Given the description of an element on the screen output the (x, y) to click on. 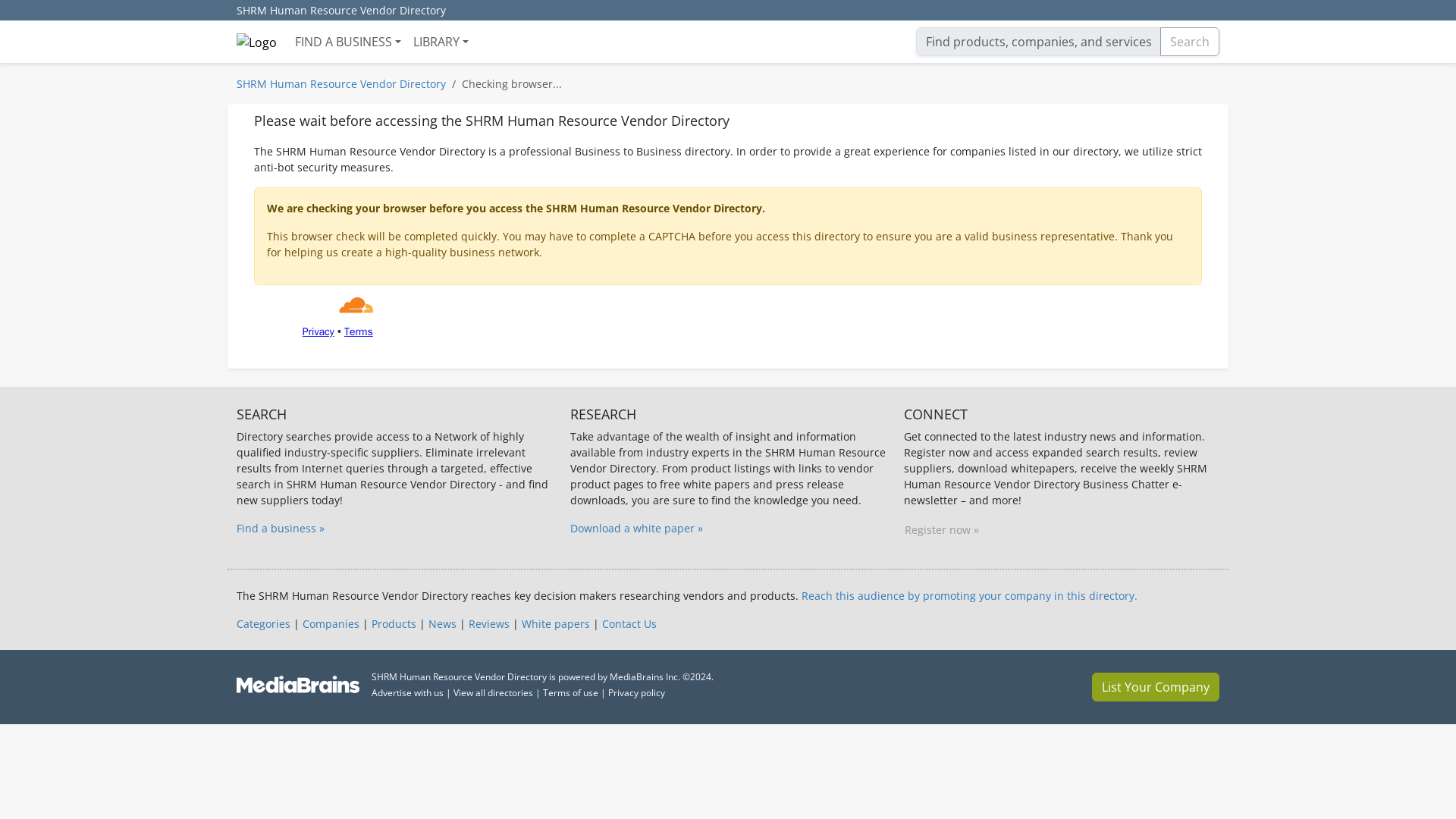
Search (1190, 41)
FIND A BUSINESS (347, 41)
LIBRARY (440, 41)
Advertise with us (407, 692)
List Your Company (1156, 686)
Reviews (488, 623)
Companies (330, 623)
Categories (262, 623)
News (442, 623)
